Given the description of an element on the screen output the (x, y) to click on. 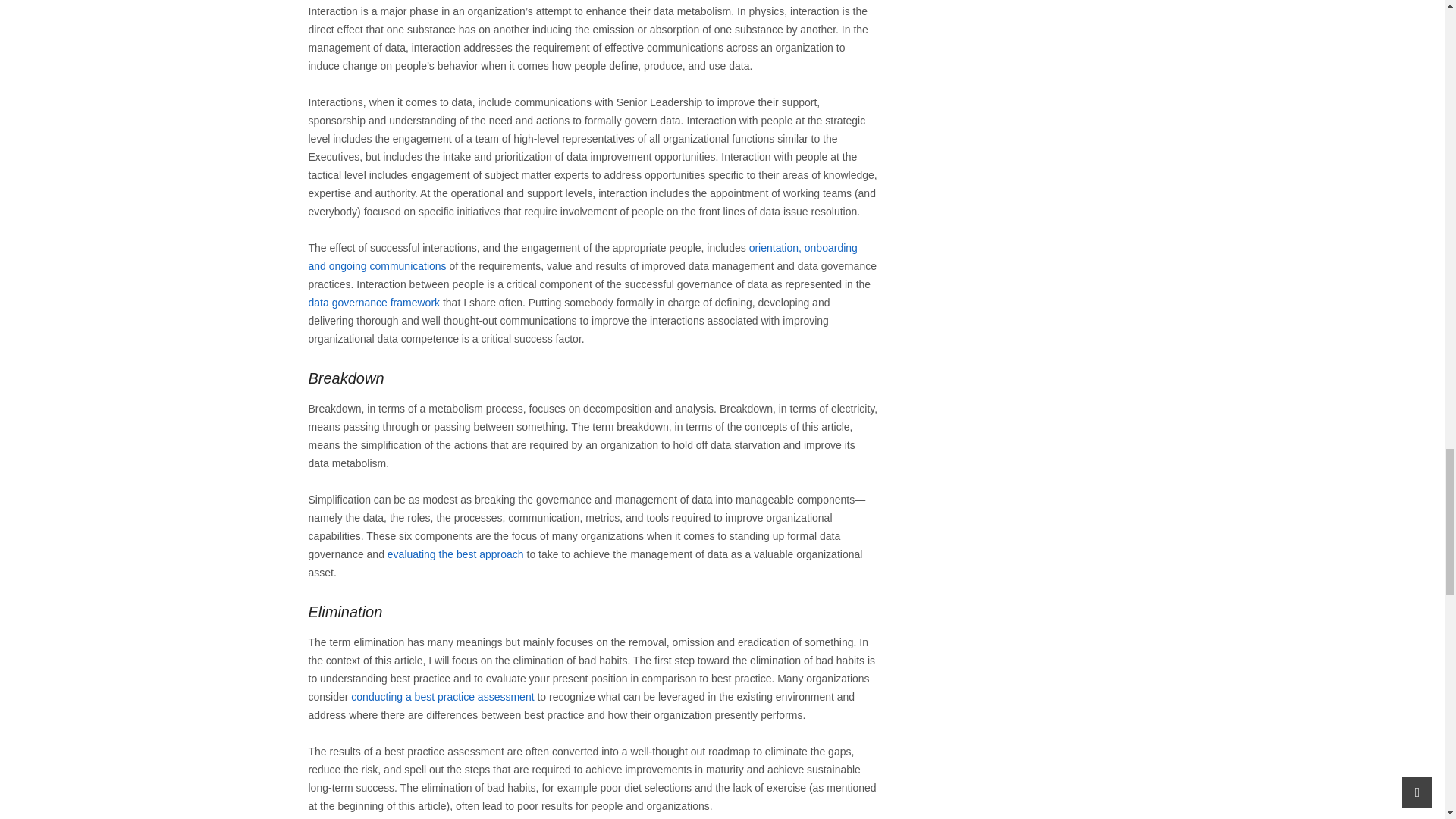
evaluating the best approach (455, 553)
orientation, onboarding and ongoing communications (582, 256)
conducting a best practice assessment (442, 696)
data governance framework (373, 302)
